Given the description of an element on the screen output the (x, y) to click on. 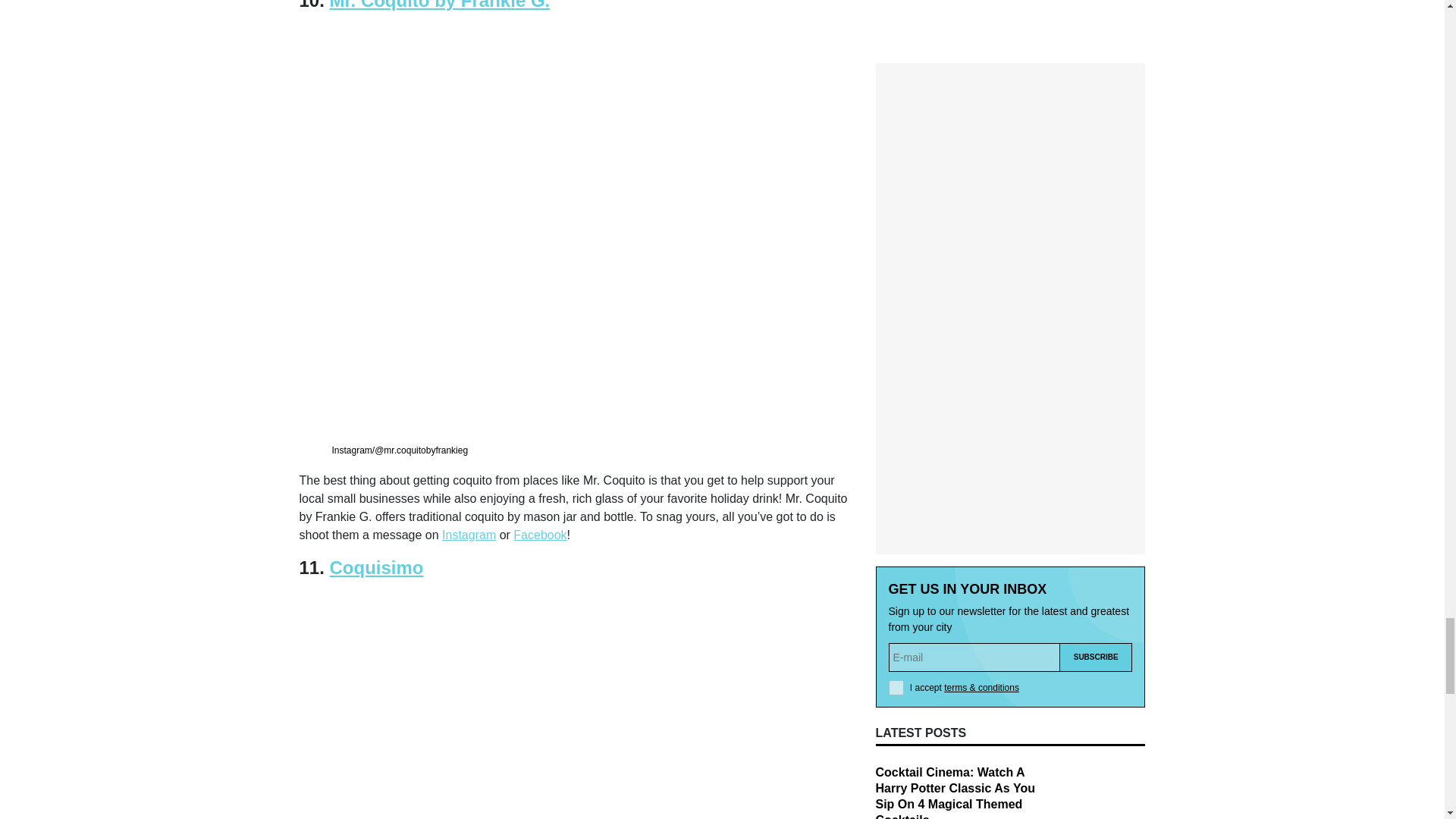
Mr. Coquito by Frankie G. (440, 5)
Facebook (539, 534)
Instagram (469, 534)
Coquisimo (376, 567)
